Given the description of an element on the screen output the (x, y) to click on. 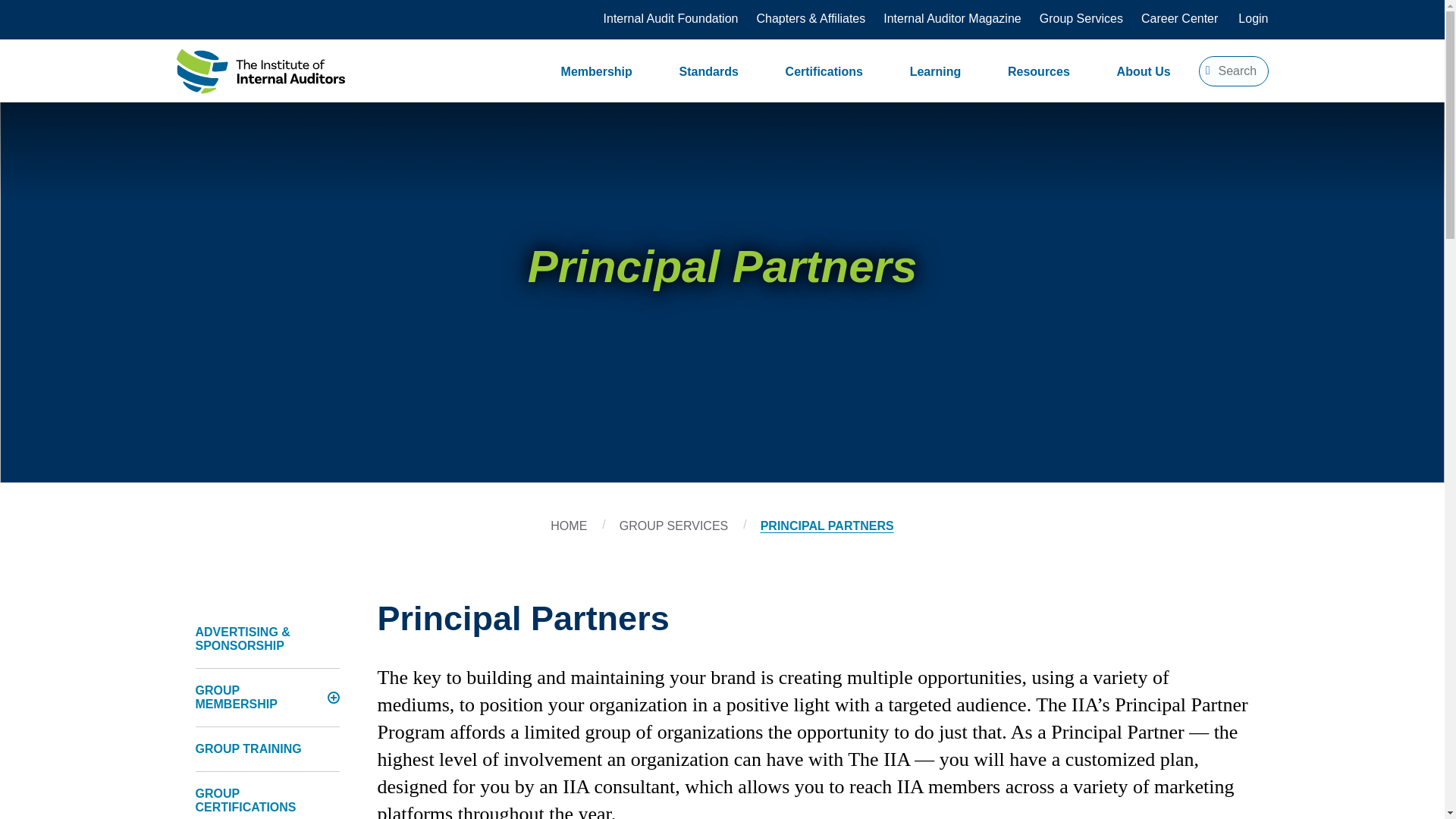
Learning (935, 71)
Standards (708, 71)
Certifications (824, 71)
The IIA (259, 75)
Membership (595, 71)
